Given the description of an element on the screen output the (x, y) to click on. 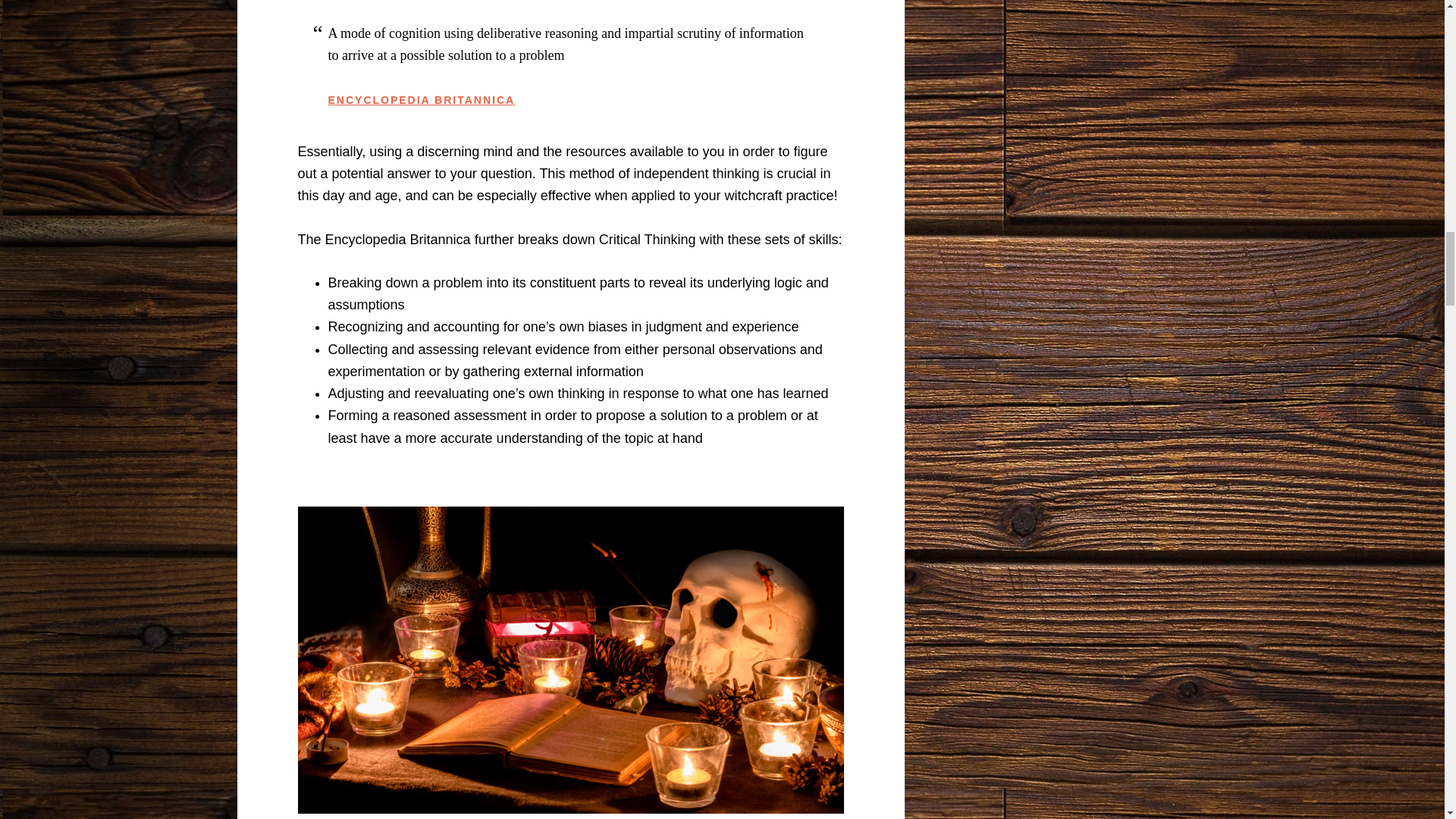
ENCYCLOPEDIA BRITANNICA (421, 100)
